Given the description of an element on the screen output the (x, y) to click on. 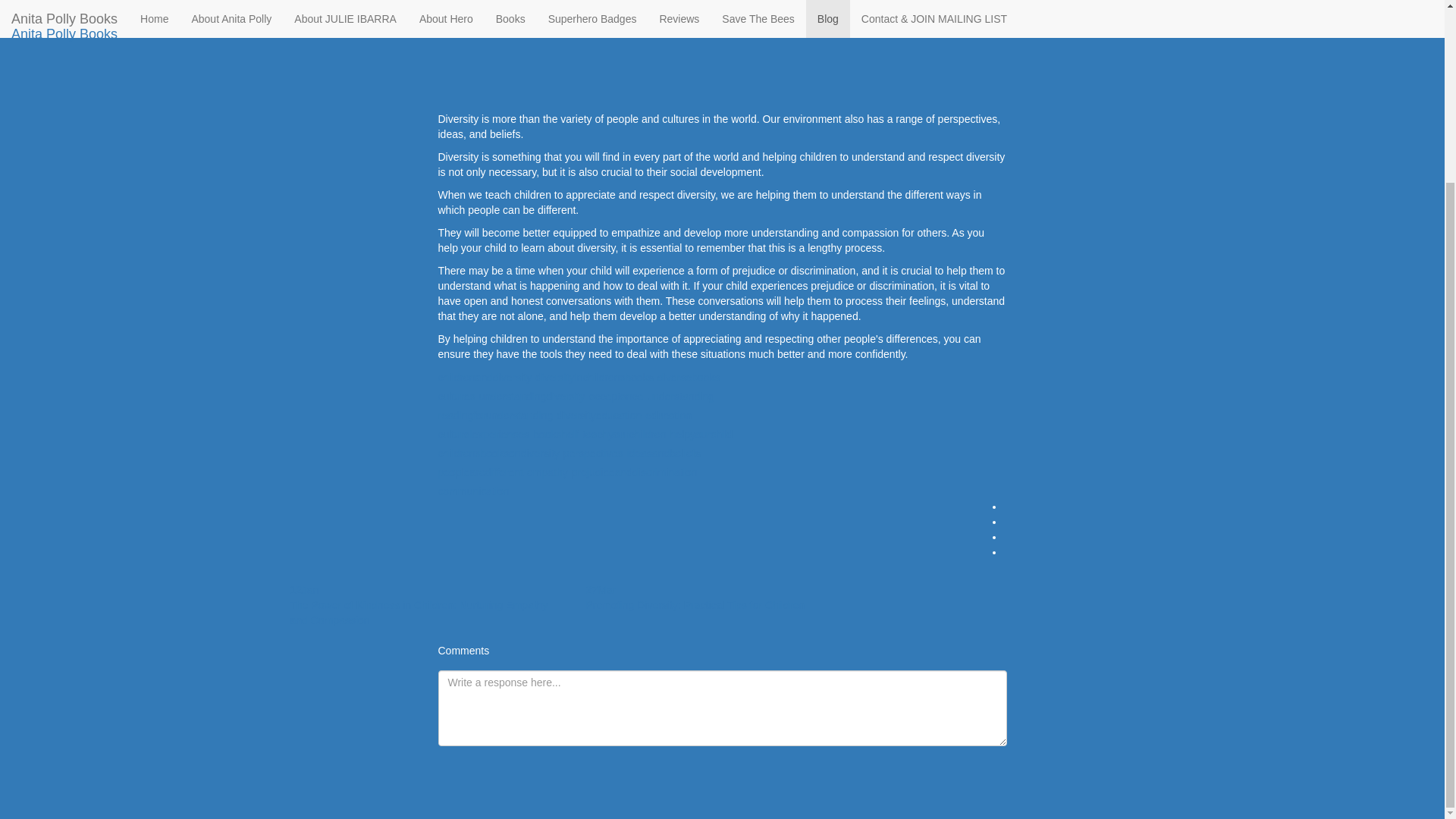
childrensbooksondiversity (498, 453)
acceptance (616, 396)
culturalexperiences (483, 435)
diversityinchildrensbooks (594, 378)
childrenanddiversity (485, 378)
readingforunderstanding (495, 416)
understandingdiversity (532, 396)
diversebooks (689, 378)
helpyourchild (701, 435)
education (668, 416)
teachyourchildren (624, 435)
cultures (457, 396)
bookshelf (555, 435)
diversityeducation (599, 416)
understanding (680, 396)
